Given the description of an element on the screen output the (x, y) to click on. 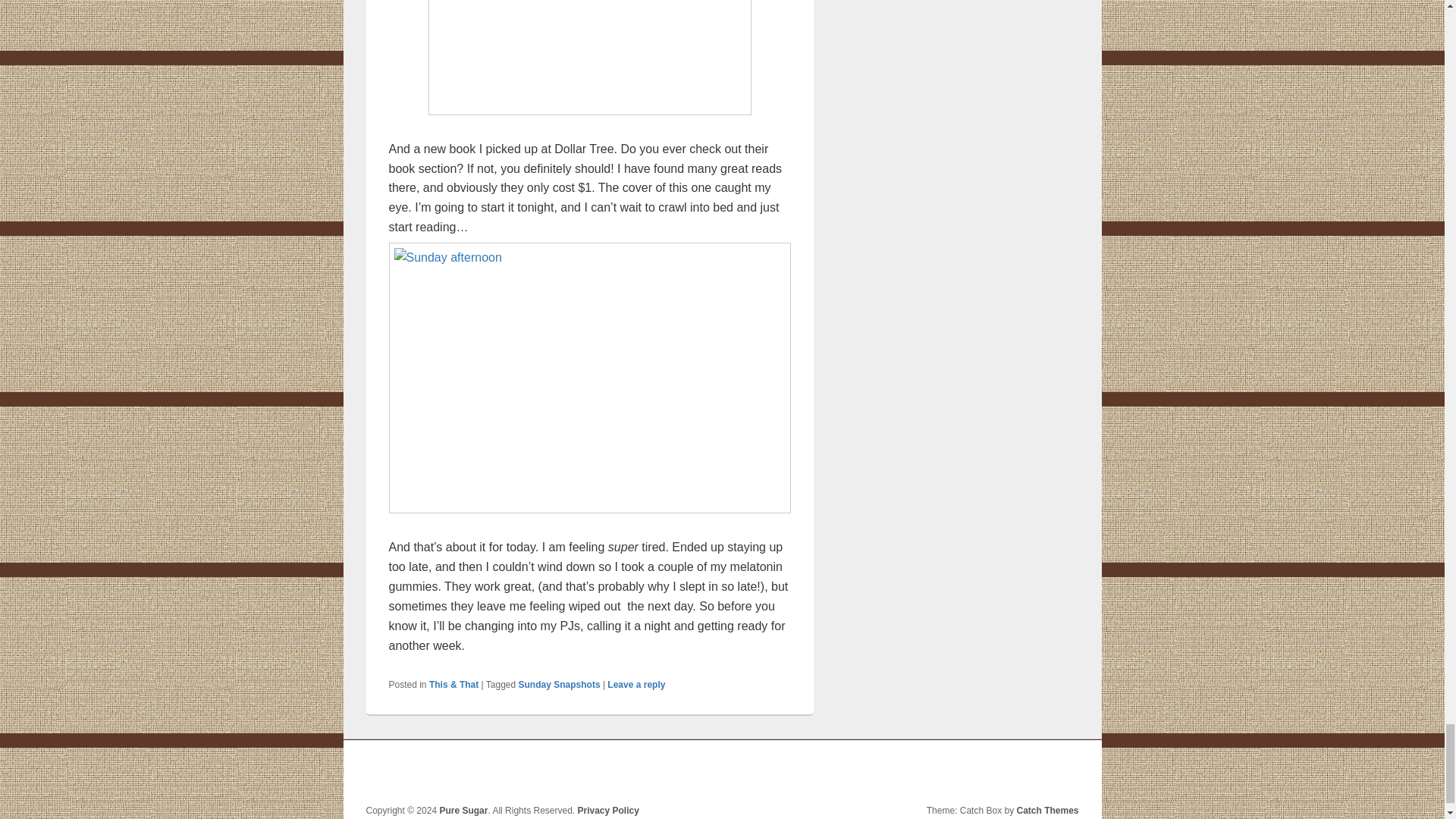
Sunday Snapshots (558, 684)
Leave a reply (636, 684)
